Given the description of an element on the screen output the (x, y) to click on. 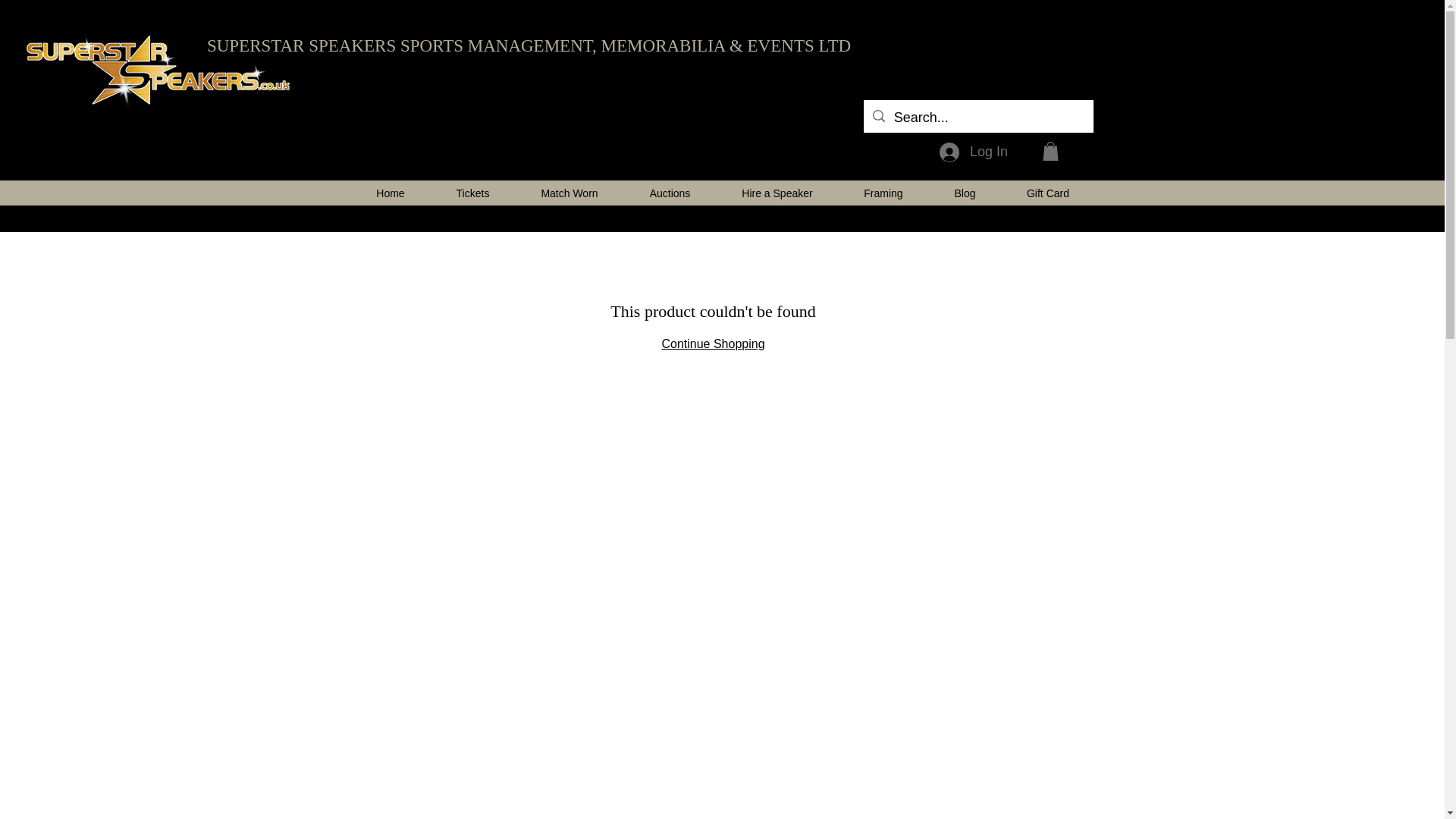
Continue Shopping (712, 343)
Gift Card (1047, 193)
Framing (883, 193)
Hire a Speaker (777, 193)
Tickets (472, 193)
Match Worn (569, 193)
Auctions (669, 193)
Home (389, 193)
Log In (972, 151)
Blog (964, 193)
